Given the description of an element on the screen output the (x, y) to click on. 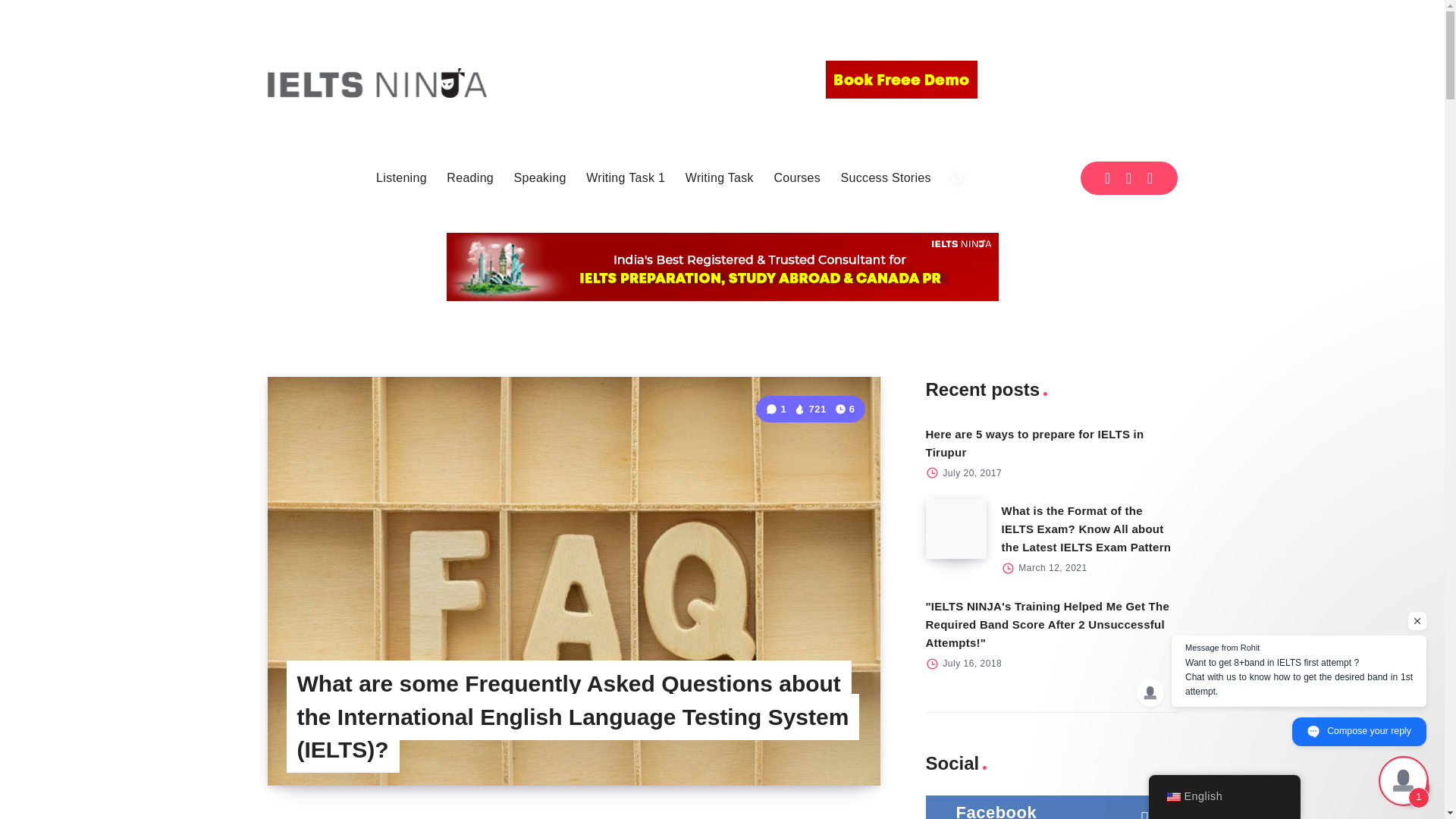
Writing Task 1 (625, 177)
Speaking (539, 177)
Courses (797, 177)
Listening (400, 177)
1 (777, 408)
Reading (469, 177)
Success Stories (886, 177)
6 Min Read (845, 408)
721 Views (809, 408)
1 Comment (777, 408)
Writing Task (719, 177)
English (1172, 796)
